Given the description of an element on the screen output the (x, y) to click on. 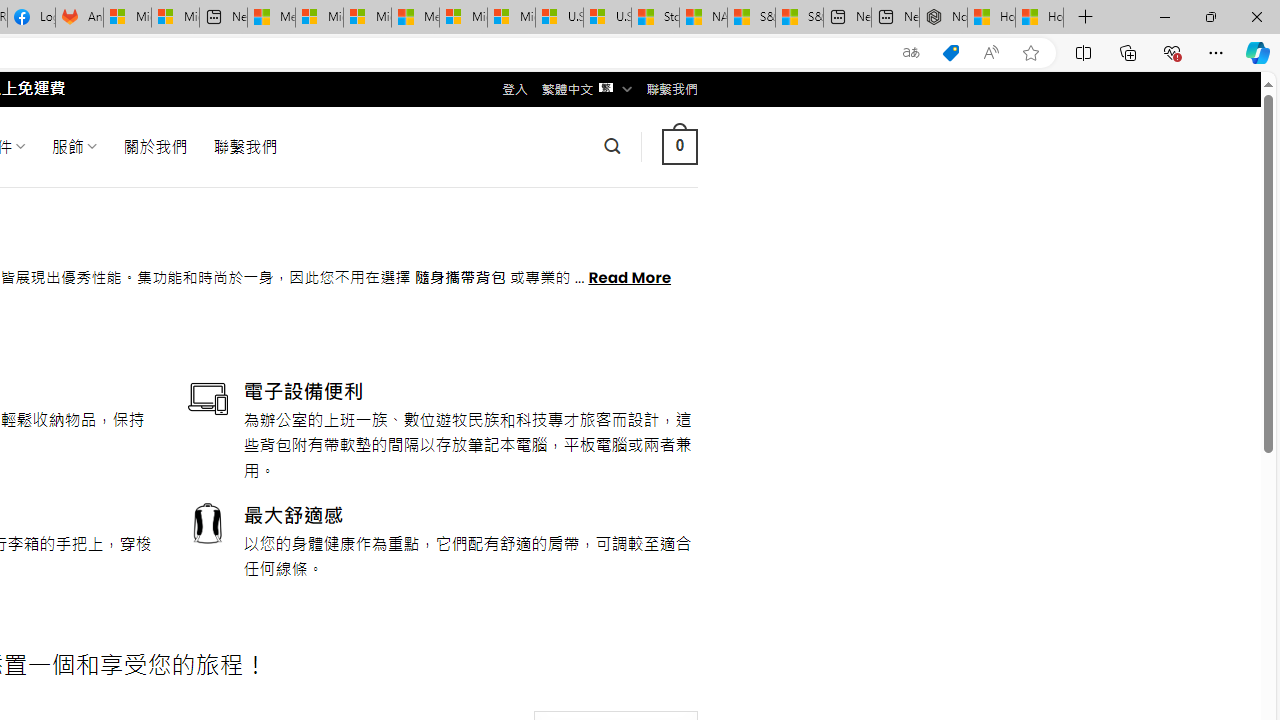
Read More (629, 276)
How to Use a Monitor With Your Closed Laptop (1039, 17)
